Given the description of an element on the screen output the (x, y) to click on. 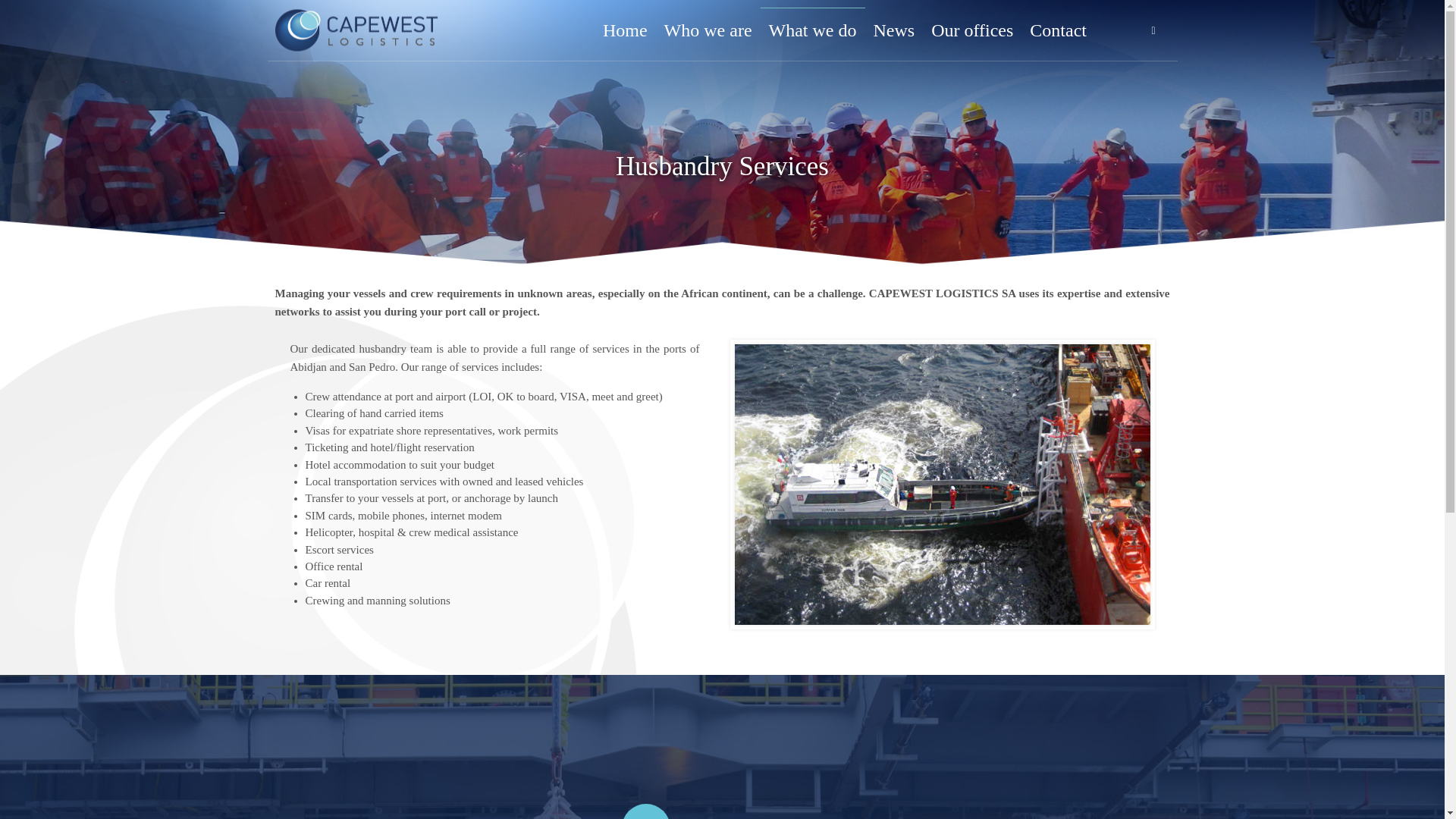
Home (625, 30)
Our offices (972, 30)
Who we are (708, 30)
What we do (812, 30)
News (893, 30)
Contact (1058, 30)
